Given the description of an element on the screen output the (x, y) to click on. 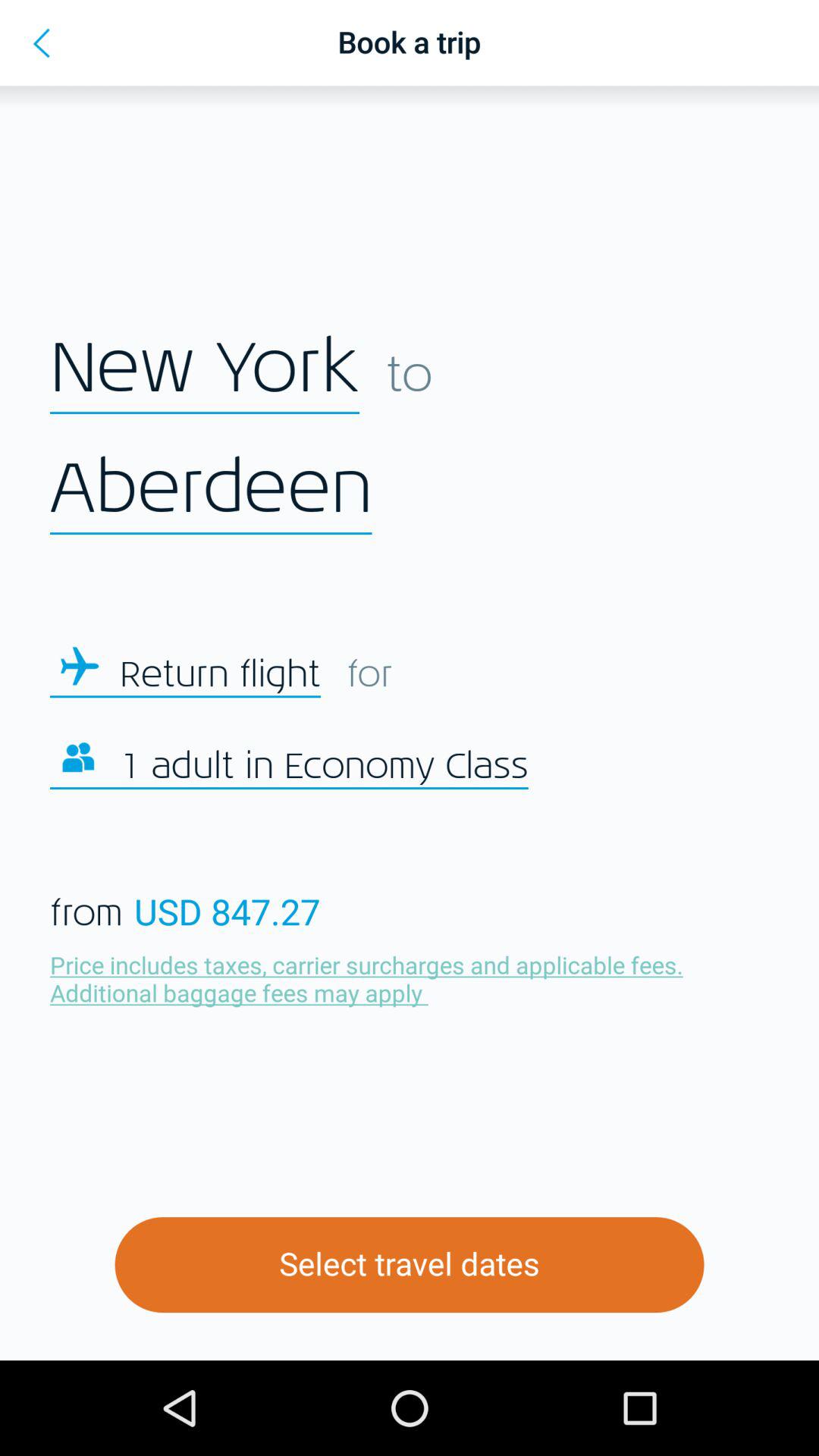
swipe to the 1 adult in (324, 766)
